Given the description of an element on the screen output the (x, y) to click on. 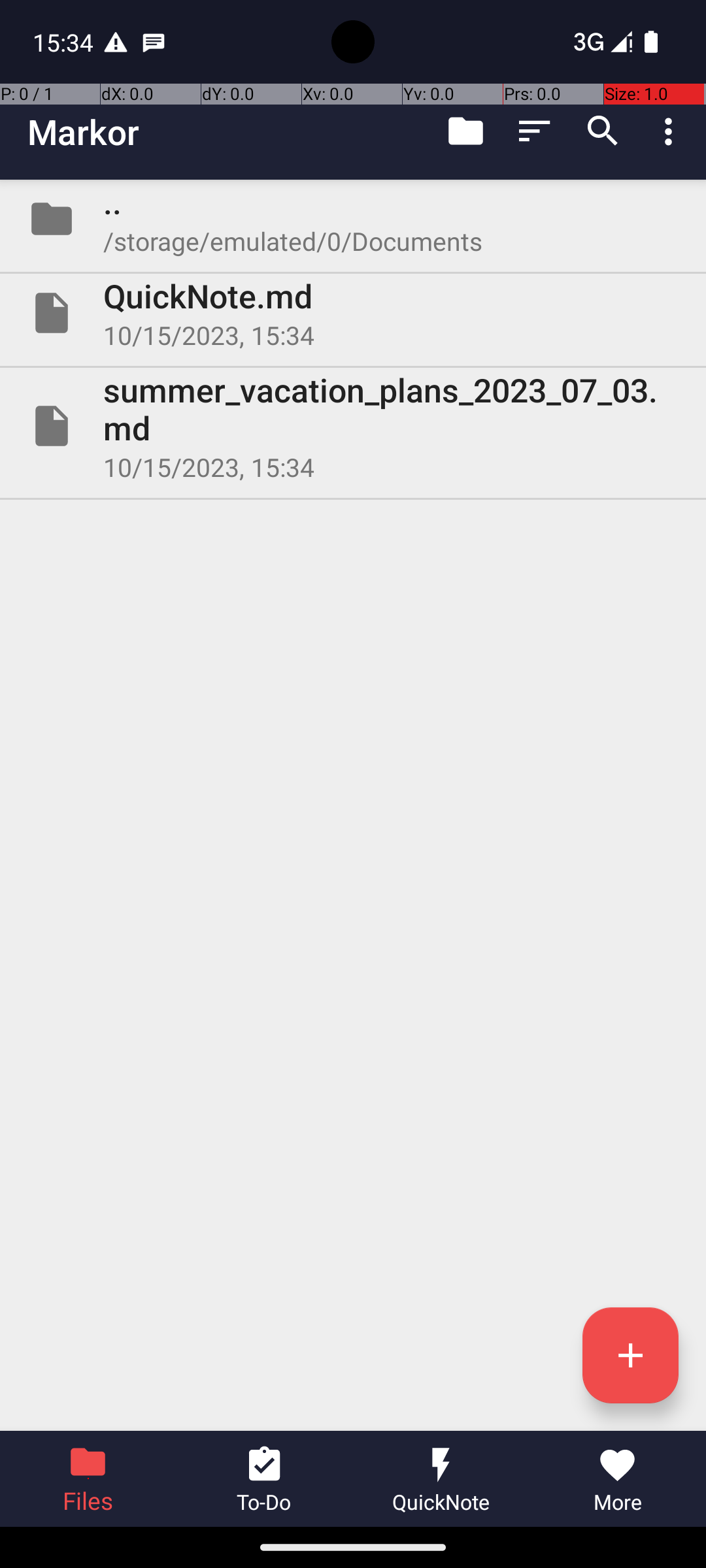
Folder .. /storage/emulated/0/Documents Element type: android.widget.LinearLayout (353, 218)
File QuickNote.md 10/15/2023, 15:34 Element type: android.widget.LinearLayout (353, 312)
File summer_vacation_plans_2023_07_03.md  Element type: android.widget.LinearLayout (353, 425)
